Given the description of an element on the screen output the (x, y) to click on. 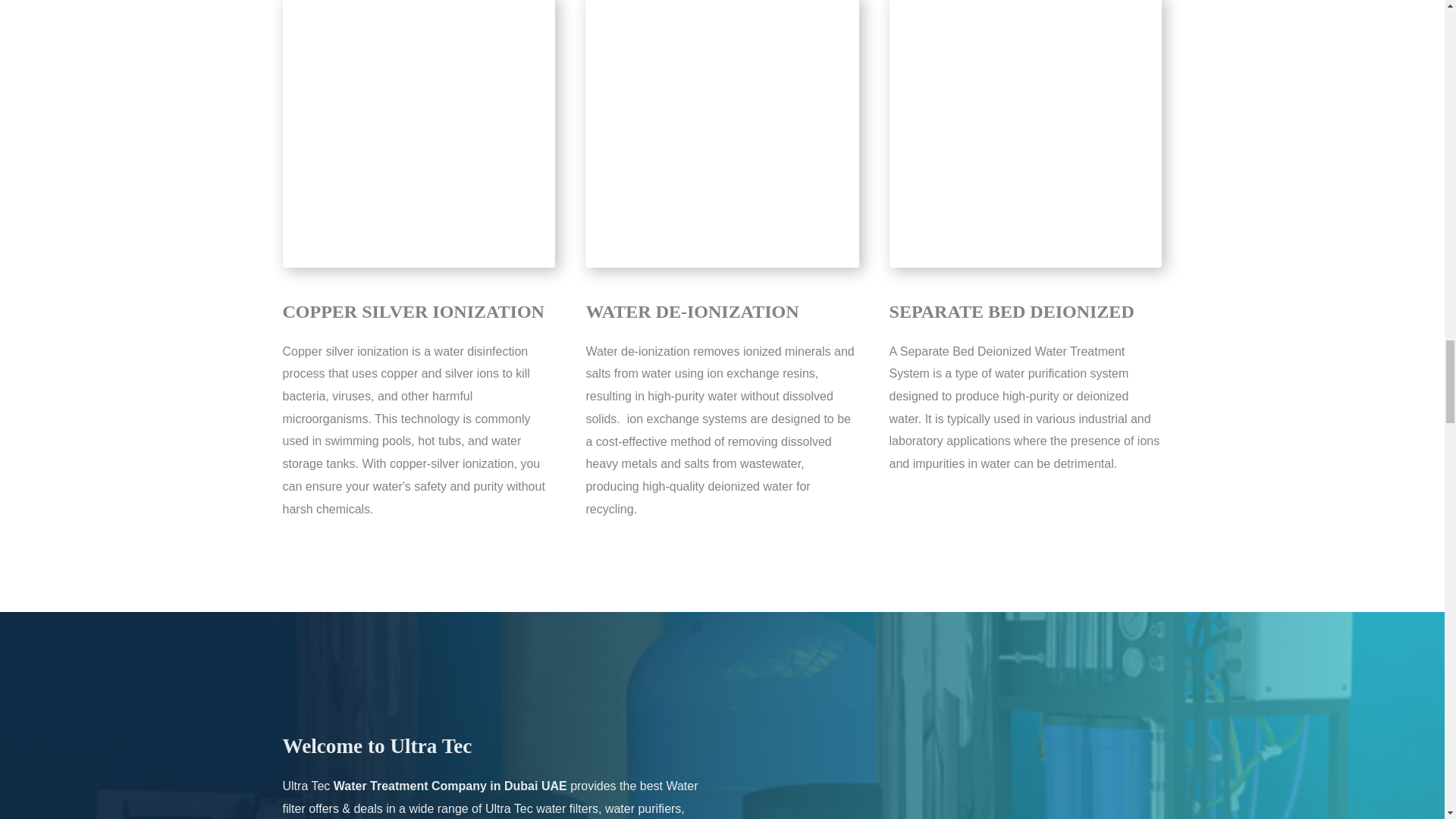
mix-bed-deionizer (1025, 133)
copper-silver-ionization-mineral-pure (418, 133)
Water de-ionization (722, 133)
water-treatment-uae-home (948, 766)
